Given the description of an element on the screen output the (x, y) to click on. 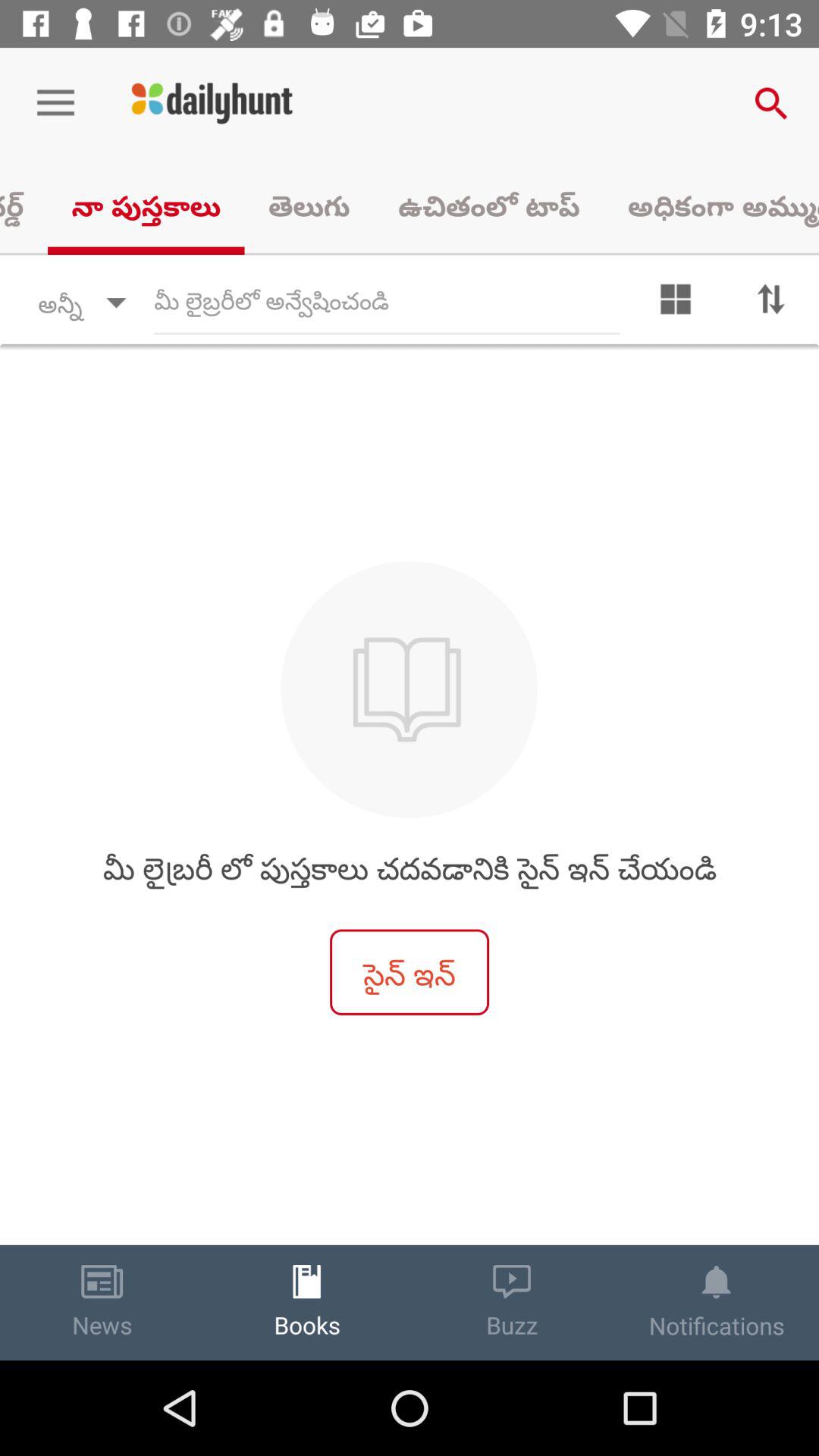
enter text field (386, 302)
